Given the description of an element on the screen output the (x, y) to click on. 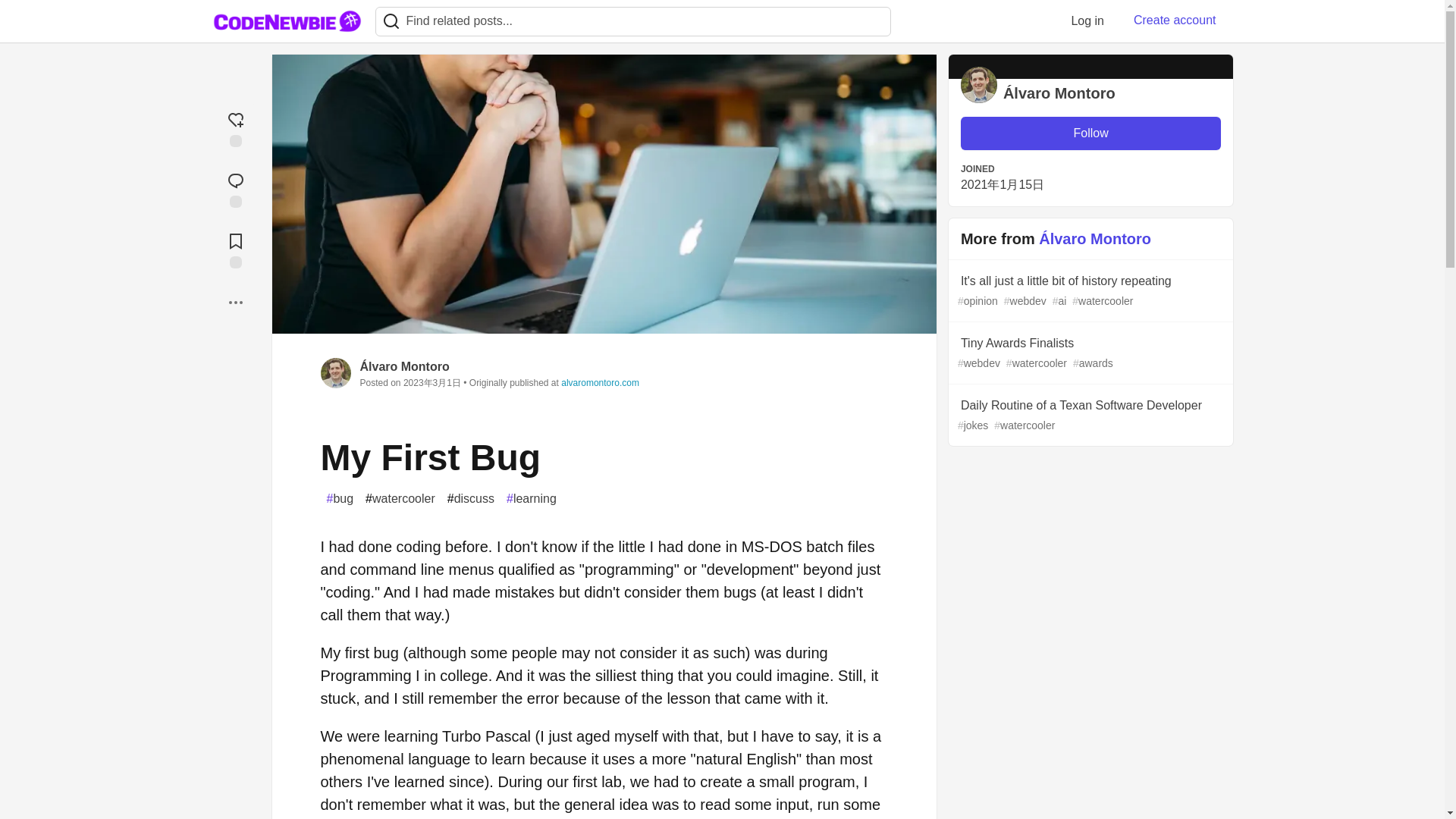
Create account (1174, 20)
alvaromontoro.com (599, 382)
Search (390, 21)
Search (390, 21)
Log in (1087, 20)
More... (234, 302)
More... (234, 302)
